Given the description of an element on the screen output the (x, y) to click on. 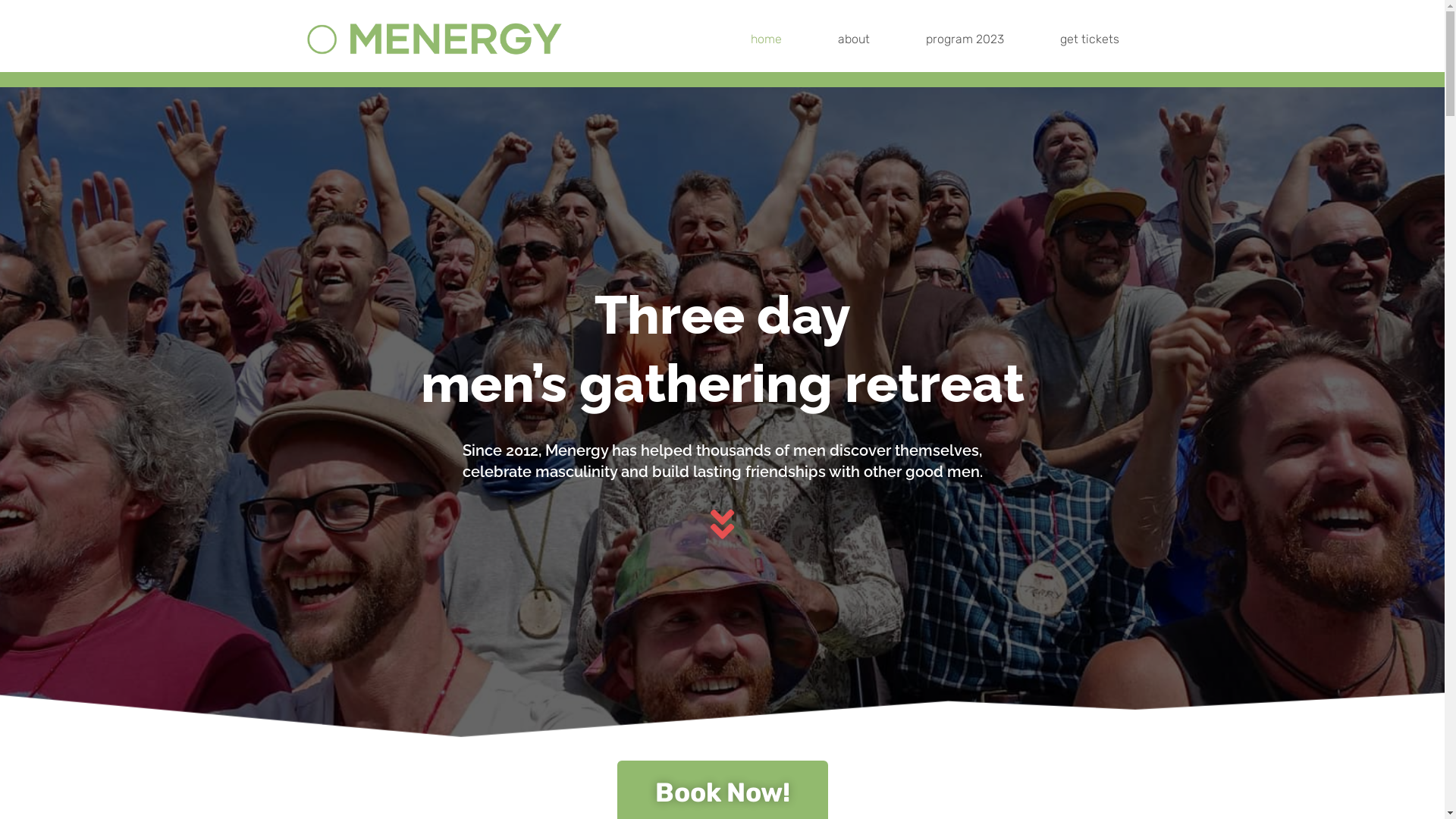
program 2023 Element type: text (964, 38)
about Element type: text (853, 38)
home Element type: text (765, 38)
get tickets Element type: text (1088, 38)
